Given the description of an element on the screen output the (x, y) to click on. 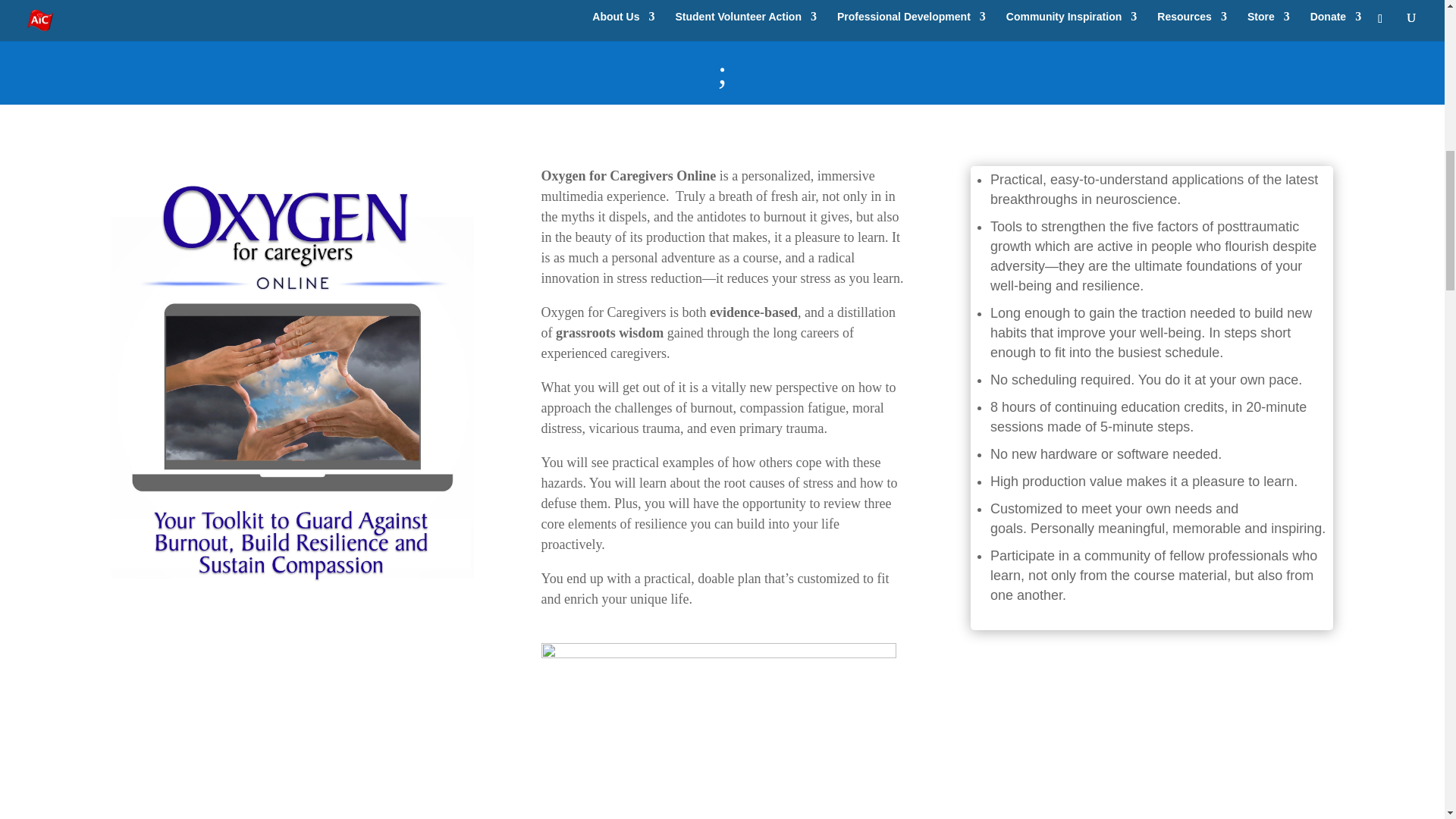
Introduction by ELNEC Director, Pam Malloy (293, 756)
